Given the description of an element on the screen output the (x, y) to click on. 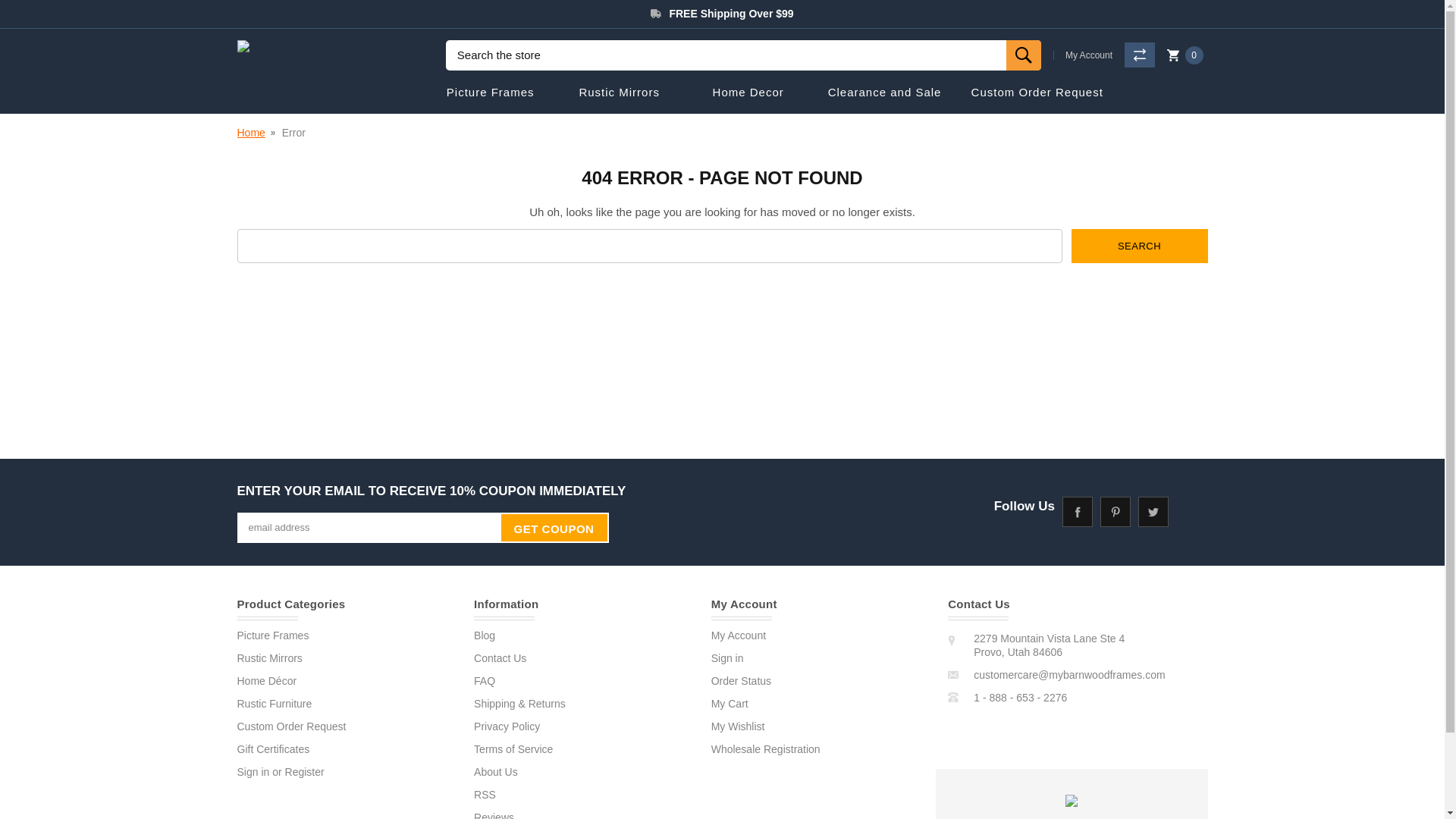
GET COUPON (553, 527)
My Account (1088, 53)
Clearance and Sale (884, 92)
Rustic Mirrors (619, 92)
Picture Frames (490, 92)
Search (1138, 245)
Home (249, 132)
GET COUPON (553, 527)
MyBarnwoodFrames.com (241, 45)
0 (1181, 54)
